Given the description of an element on the screen output the (x, y) to click on. 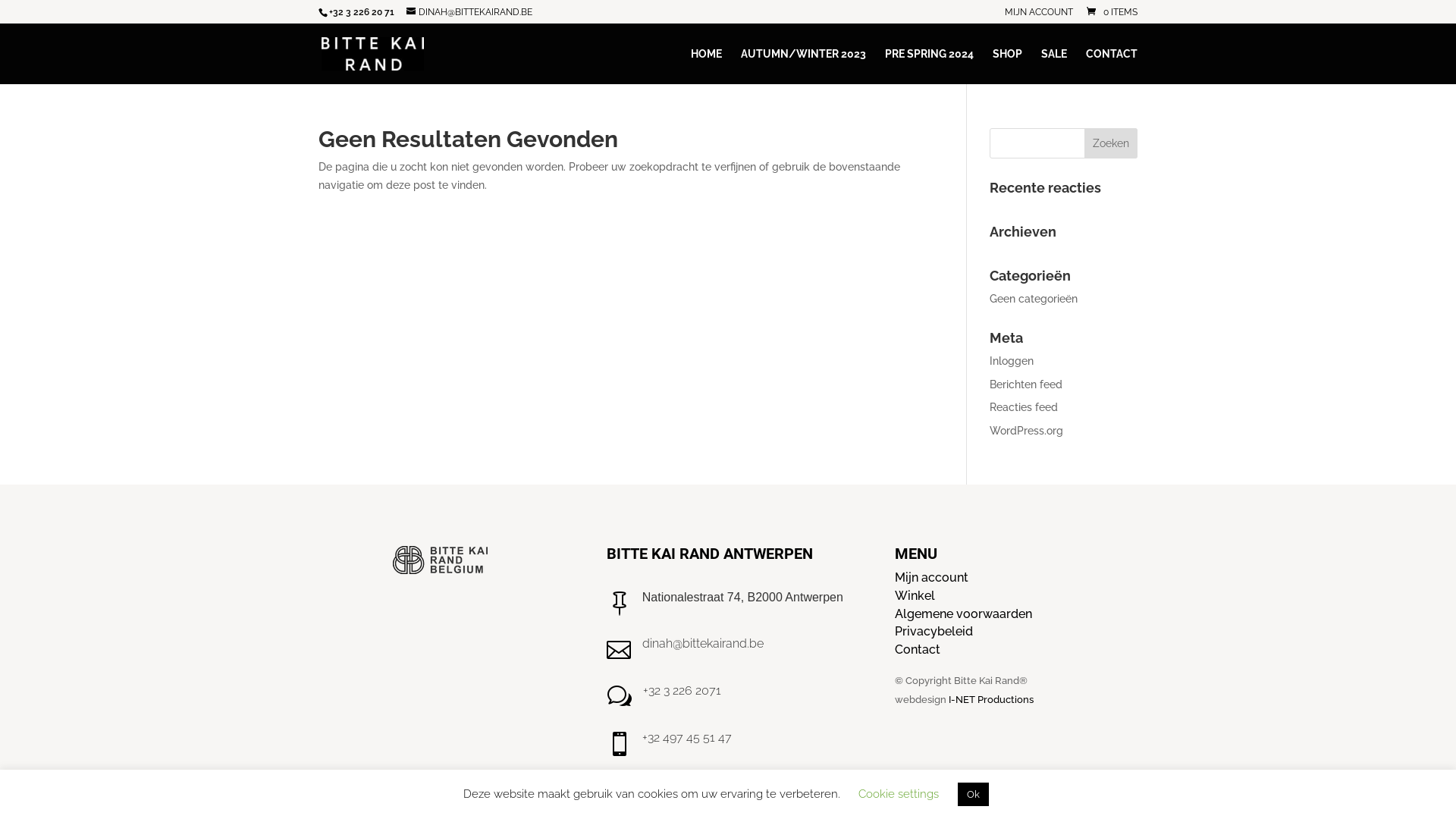
Berichten feed Element type: text (1025, 384)
Winkel Element type: text (914, 595)
MIJN ACCOUNT Element type: text (1038, 15)
Cookie settings Element type: text (898, 793)
Ok Element type: text (972, 794)
SALE Element type: text (1053, 66)
Contact Element type: text (917, 649)
DINAH@BITTEKAIRAND.BE Element type: text (469, 11)
Mijn account Element type: text (931, 577)
AUTUMN/WINTER 2023 Element type: text (803, 66)
SHOP Element type: text (1007, 66)
dinah@bittekairand.be Element type: text (702, 643)
Privacybeleid Element type: text (933, 631)
WordPress.org Element type: text (1026, 430)
CONTACT Element type: text (1111, 66)
Inloggen Element type: text (1011, 360)
I-NET Productions Element type: text (990, 699)
bkr_menu_dark Element type: hover (439, 560)
HOME Element type: text (705, 66)
0 ITEMS Element type: text (1110, 11)
Reacties feed Element type: text (1023, 407)
Zoeken Element type: text (1110, 143)
PRE SPRING 2024 Element type: text (928, 66)
Algemene voorwaarden Element type: text (963, 613)
